Given the description of an element on the screen output the (x, y) to click on. 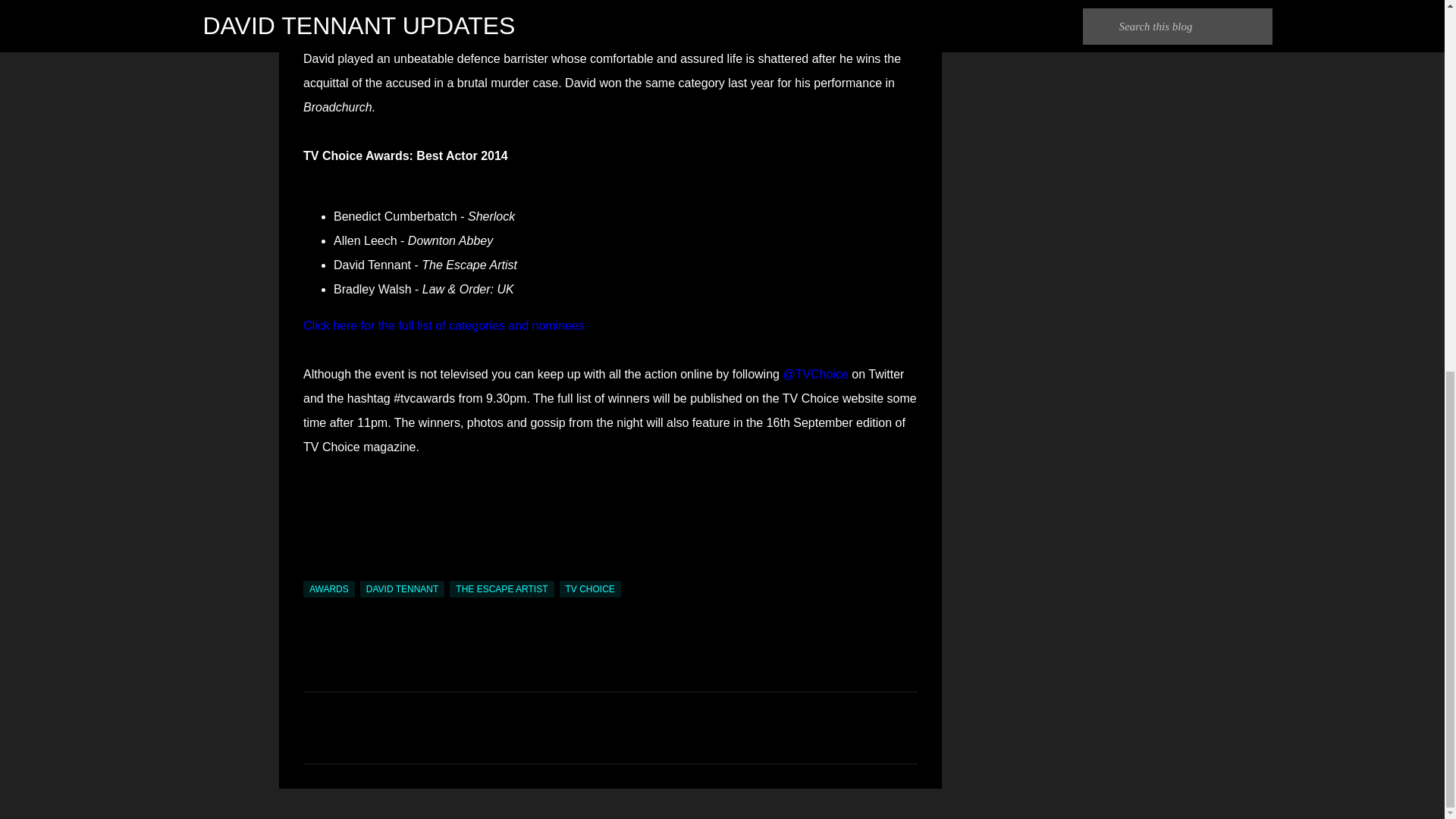
TV CHOICE (590, 588)
DAVID TENNANT (402, 588)
AWARDS (328, 588)
Click here for the full list of categories and nominees (443, 325)
THE ESCAPE ARTIST (501, 588)
Email Post (311, 571)
